Given the description of an element on the screen output the (x, y) to click on. 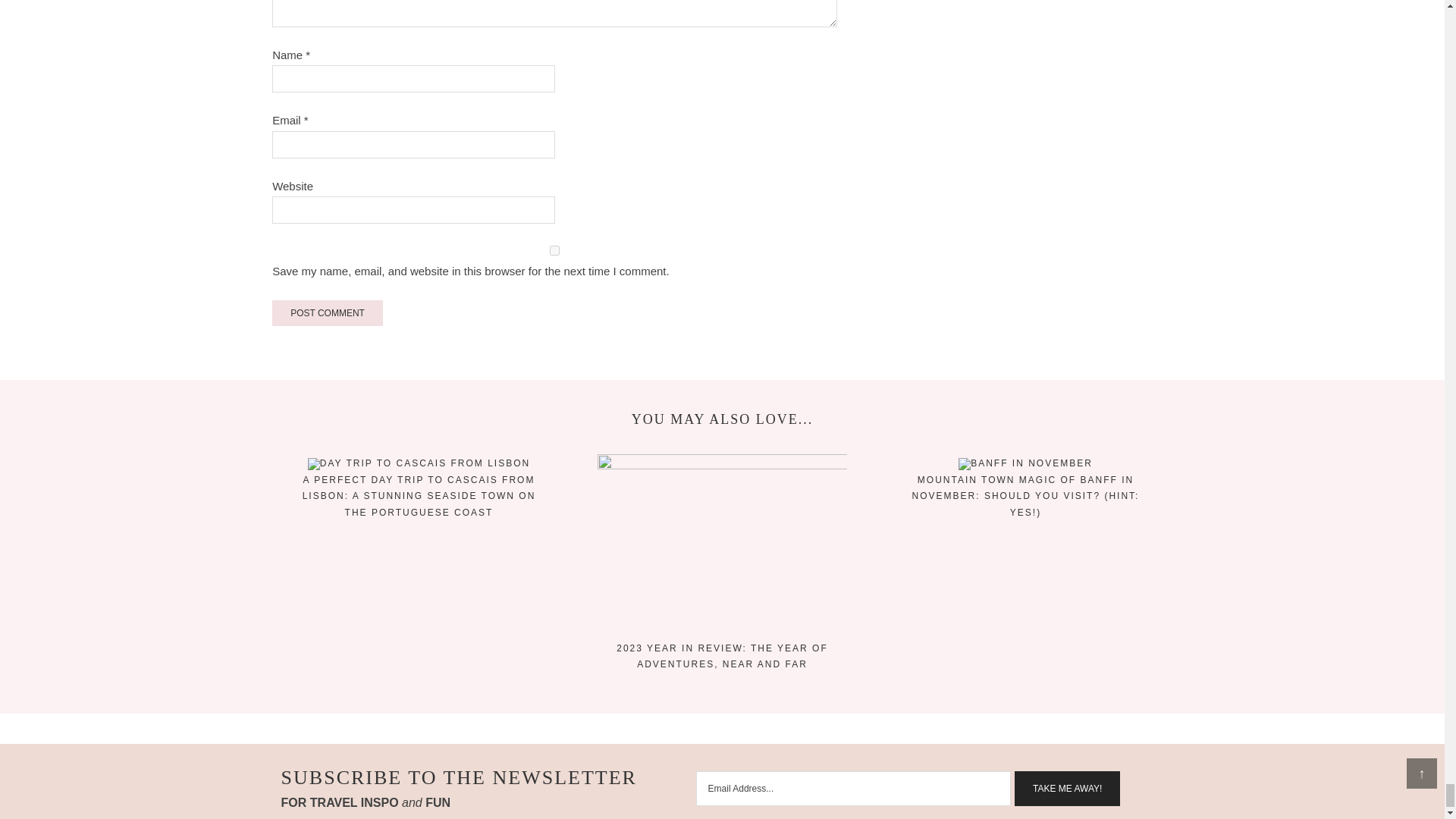
Post Comment (327, 312)
Take Me Away! (1066, 788)
yes (554, 250)
